Given the description of an element on the screen output the (x, y) to click on. 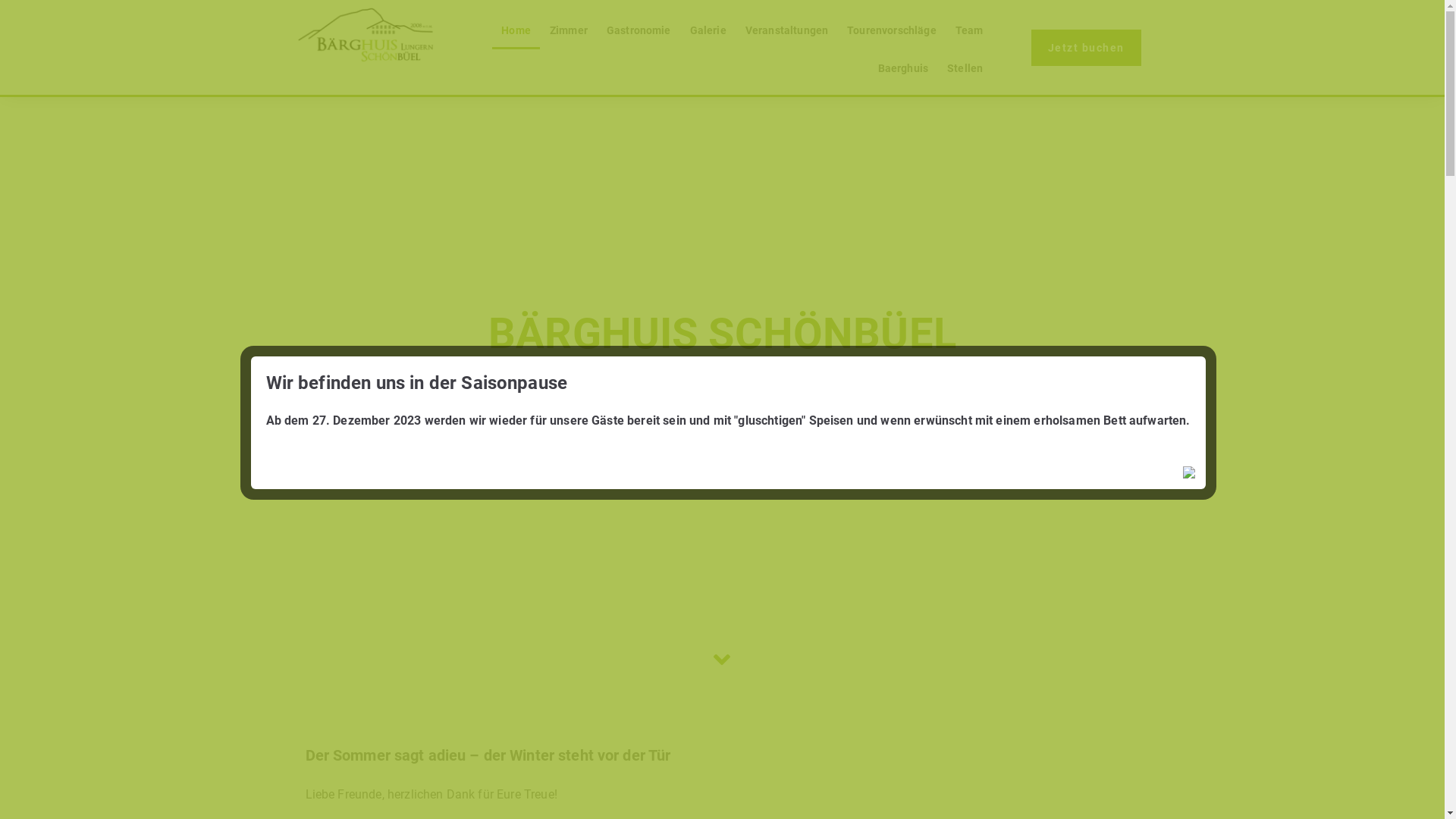
Gastronomie Element type: text (638, 30)
Galerie Element type: text (707, 30)
Close Element type: hover (1190, 474)
Zimmer Element type: text (567, 30)
Veranstaltungen Element type: text (786, 30)
Home Element type: text (516, 30)
Baerghuis Element type: text (902, 68)
Stellen Element type: text (965, 68)
Team Element type: text (968, 30)
Jetzt buchen Element type: text (1086, 46)
